Given the description of an element on the screen output the (x, y) to click on. 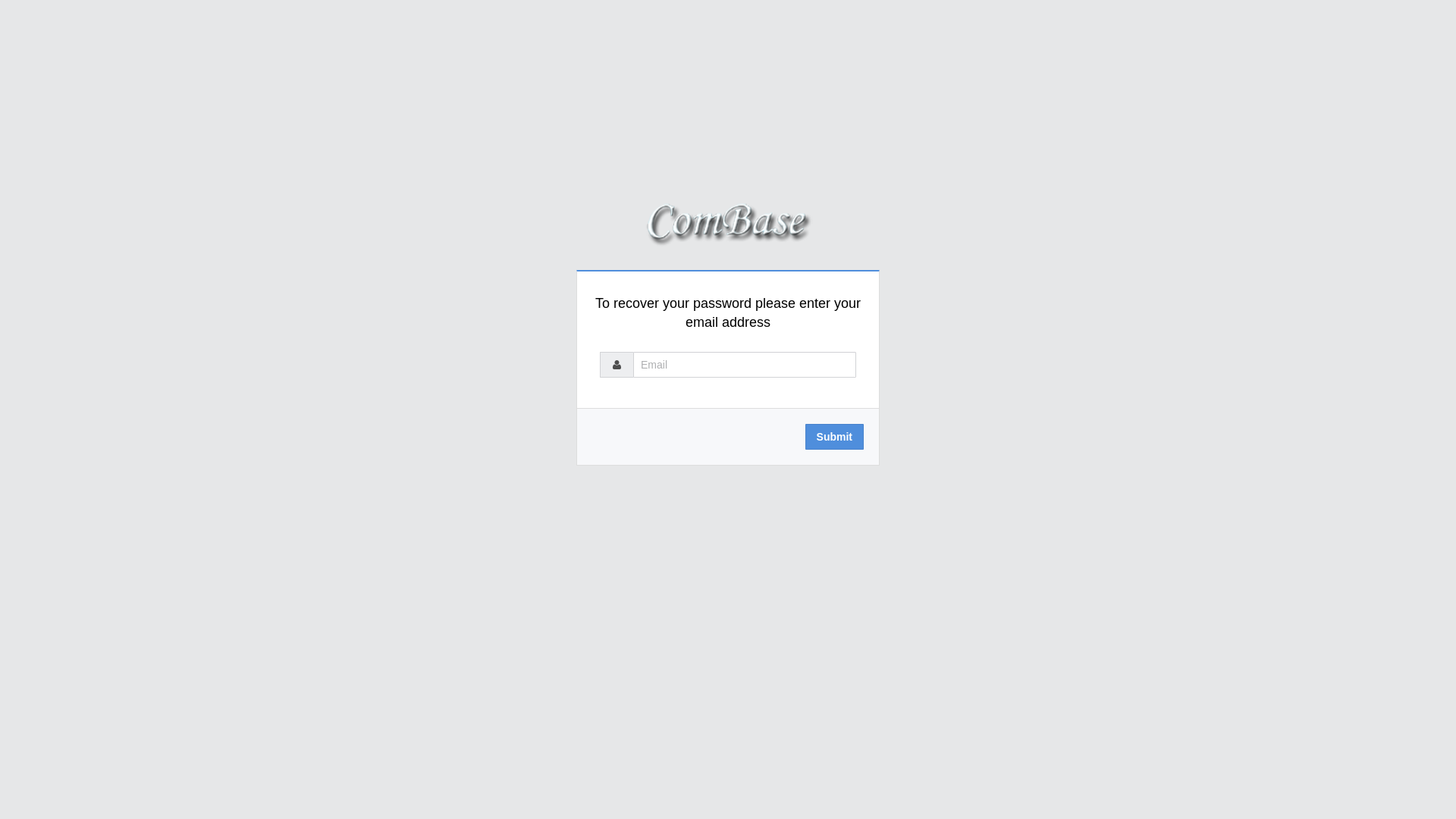
Submit Element type: text (834, 436)
